Given the description of an element on the screen output the (x, y) to click on. 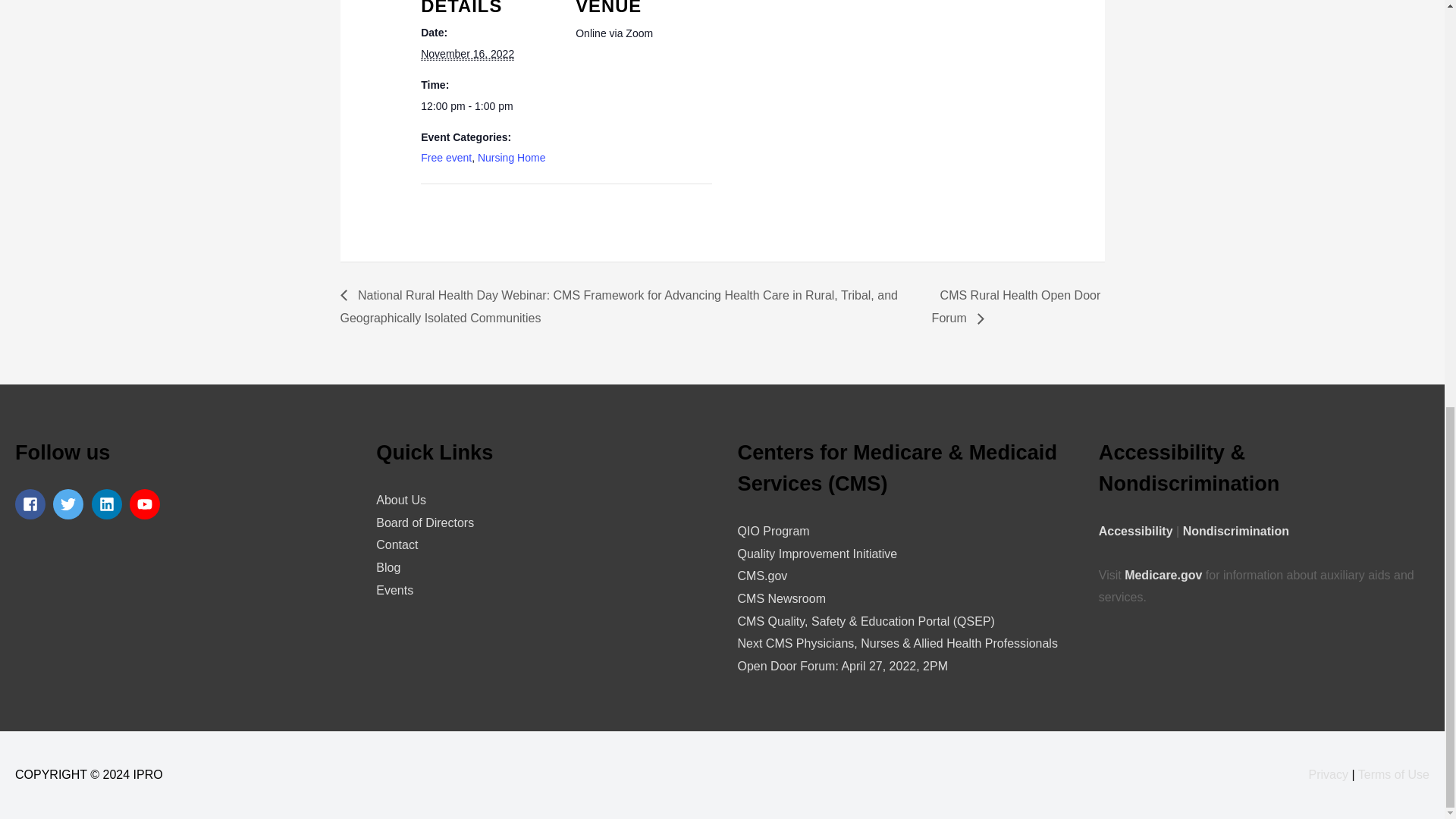
2022-11-16 (466, 53)
Free event (445, 157)
Nursing Home (510, 157)
2022-11-16 (488, 107)
